Given the description of an element on the screen output the (x, y) to click on. 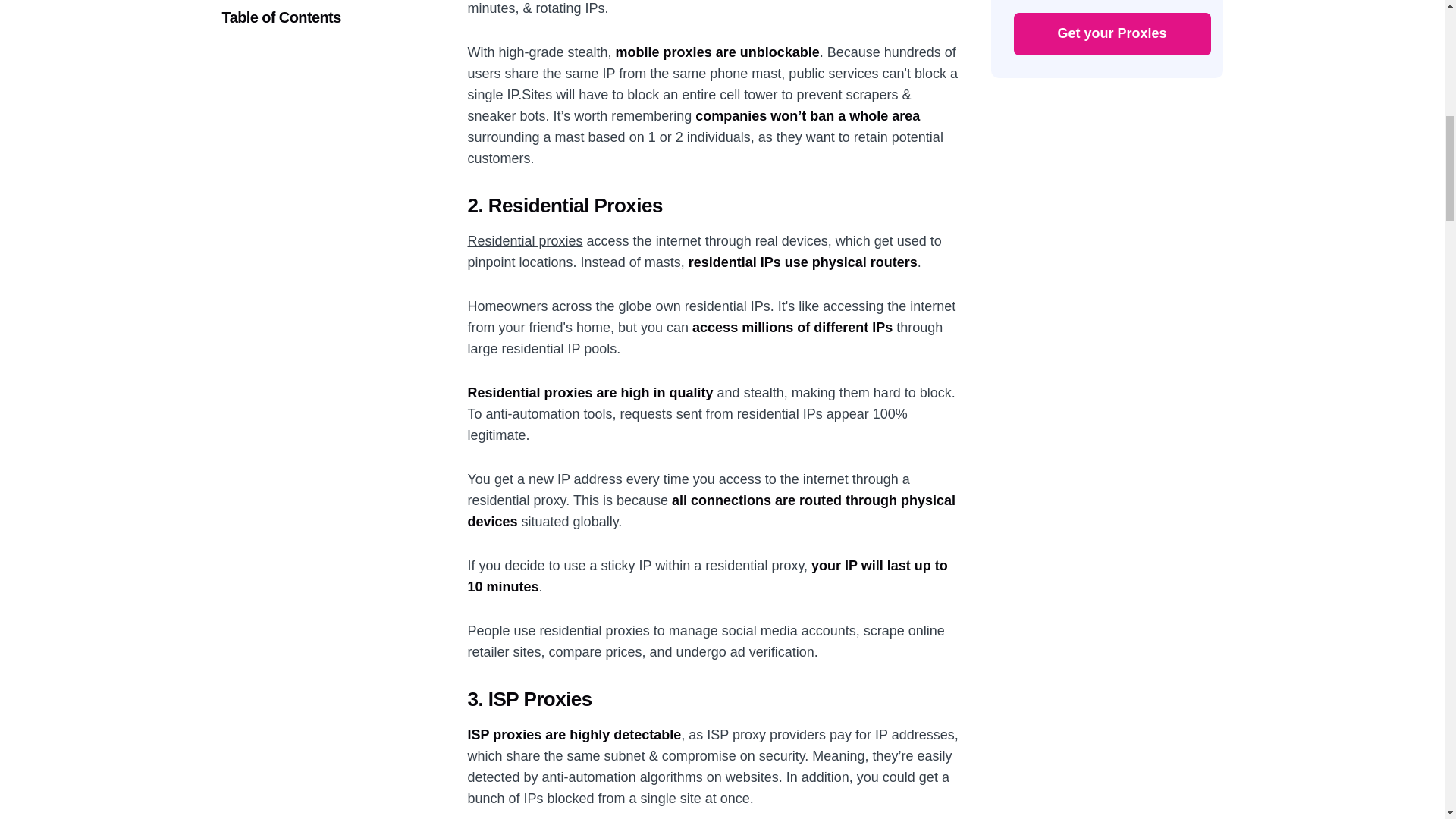
Residential proxies (524, 240)
Get your Proxies (1111, 34)
Get your Proxies (1111, 34)
